Given the description of an element on the screen output the (x, y) to click on. 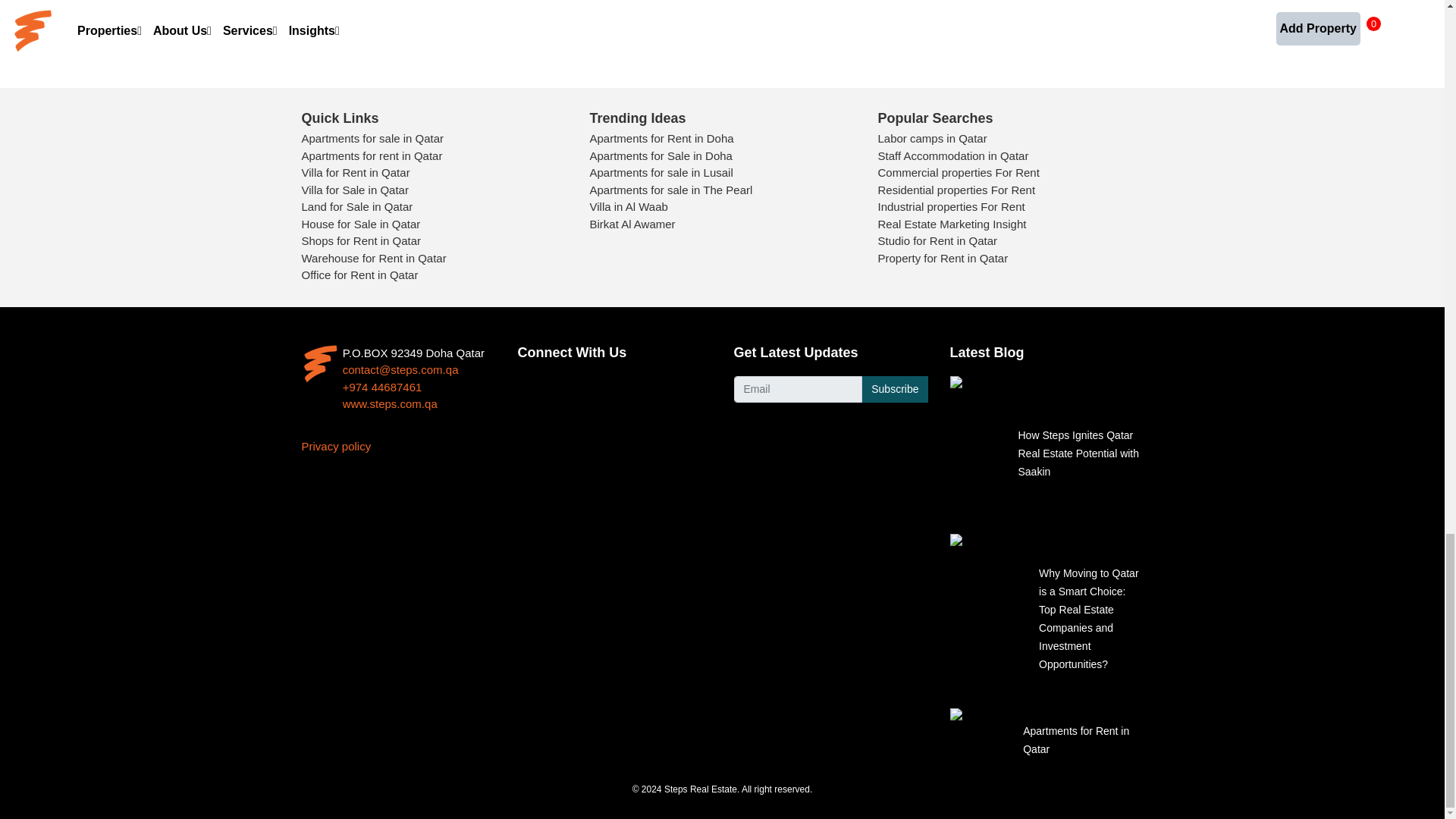
Villa for Rent in Qatar (355, 172)
Apartments for rent in Qatar (371, 155)
Apartments for sale in Qatar (372, 137)
Villa for Sale in Qatar (355, 189)
